Given the description of an element on the screen output the (x, y) to click on. 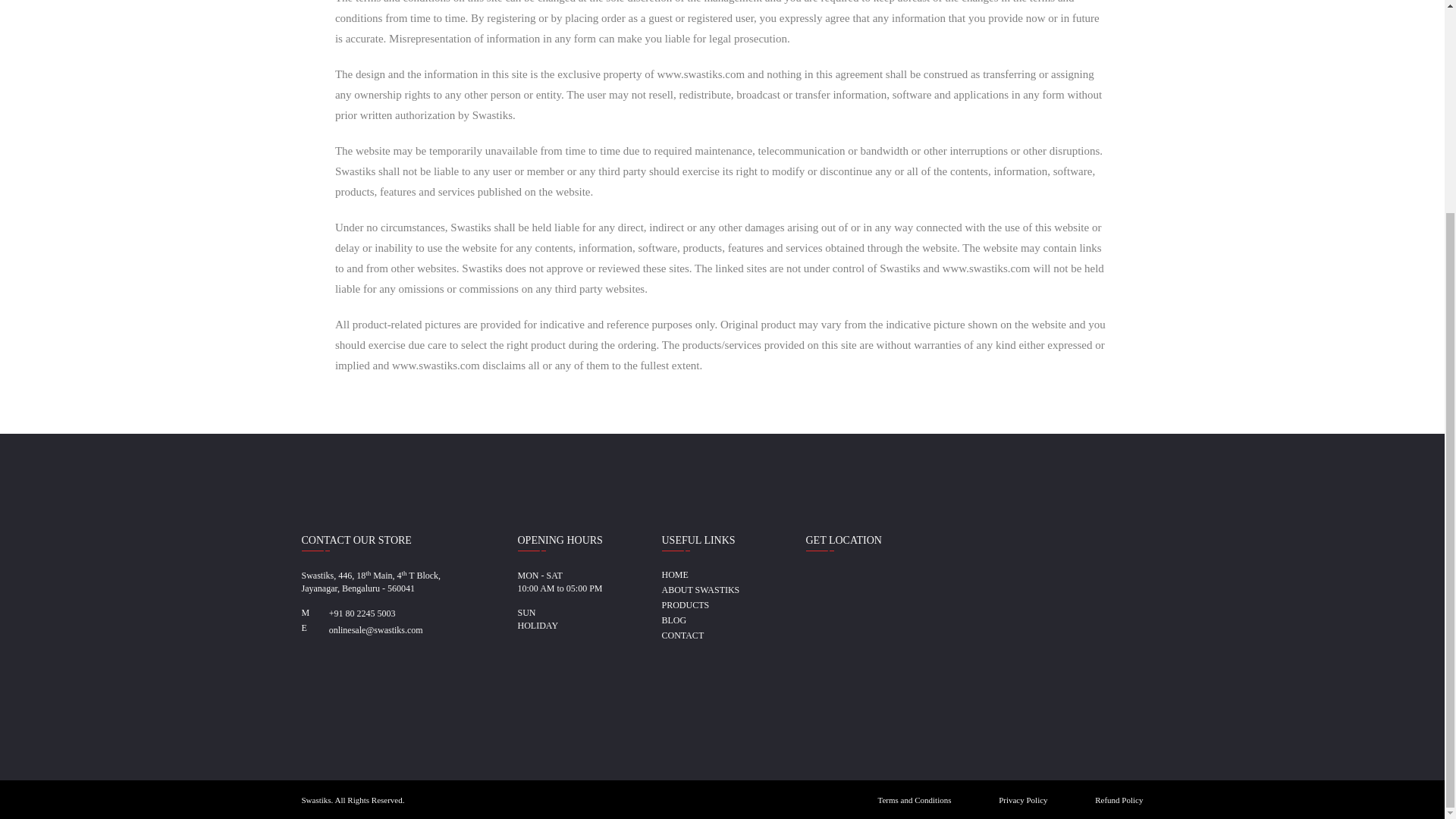
BLOG (673, 620)
CONTACT (682, 634)
HOME (674, 574)
PRODUCTS (685, 604)
Refund Policy (1118, 799)
ABOUT SWASTIKS (700, 589)
Privacy Policy (1022, 799)
Terms and Conditions (914, 799)
